Given the description of an element on the screen output the (x, y) to click on. 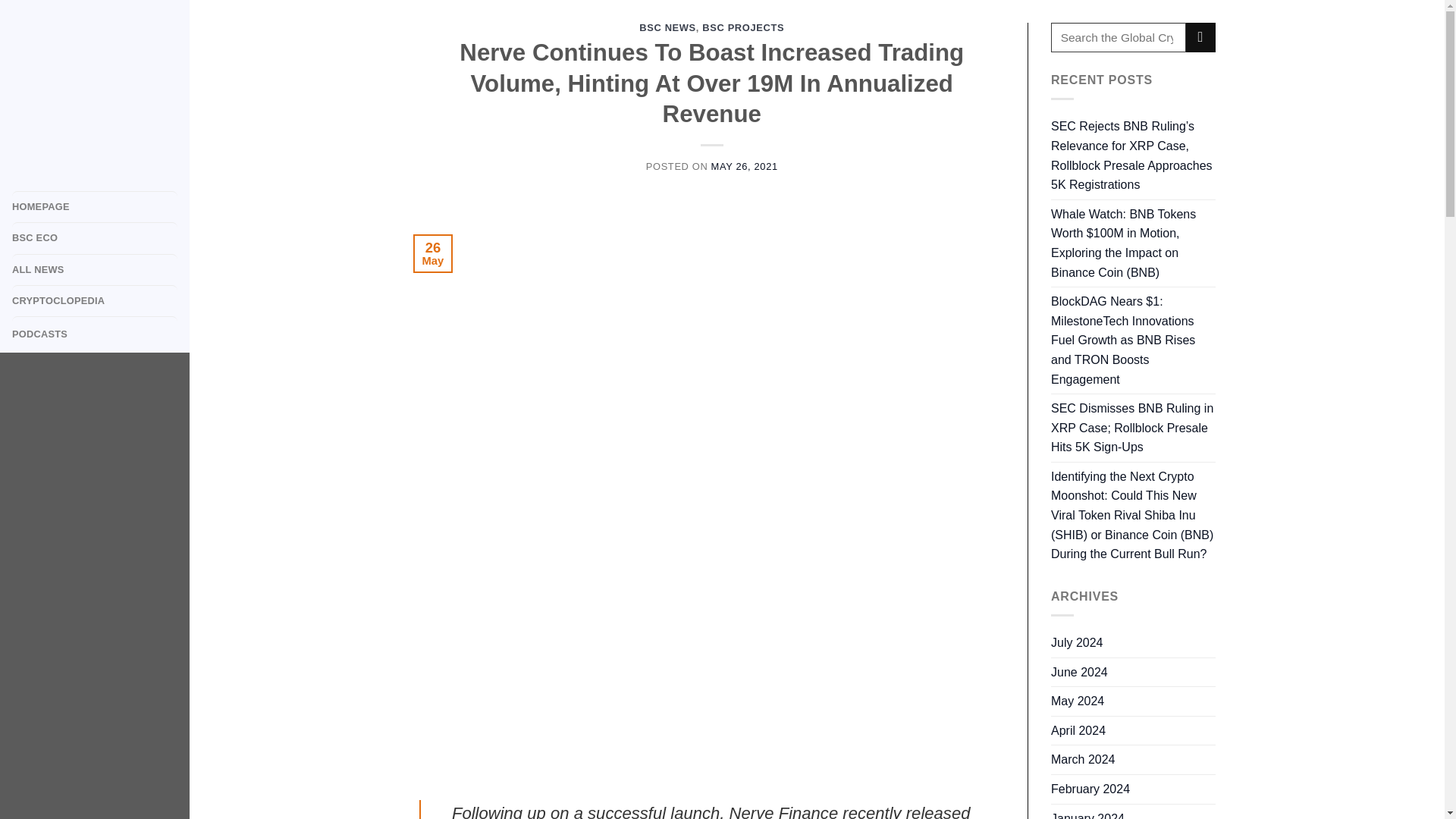
BSC NEWS (667, 27)
BSC PROJECTS (742, 27)
CryptocoinStart - Start your crypto journey with knowledge (94, 90)
MAY 26, 2021 (744, 165)
